Given the description of an element on the screen output the (x, y) to click on. 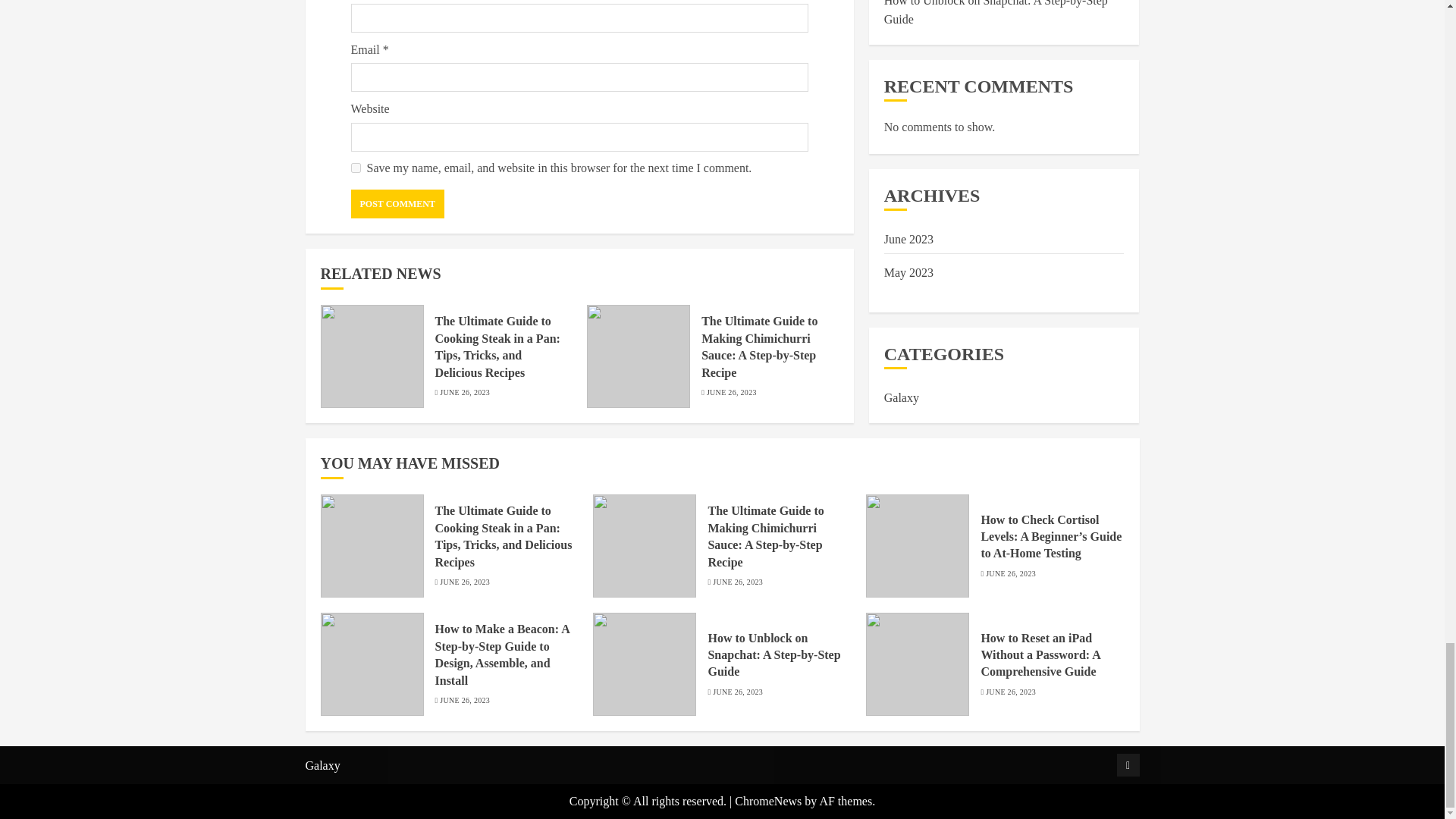
JUNE 26, 2023 (464, 392)
JUNE 26, 2023 (731, 392)
yes (354, 167)
Post Comment (397, 203)
Post Comment (397, 203)
